Given the description of an element on the screen output the (x, y) to click on. 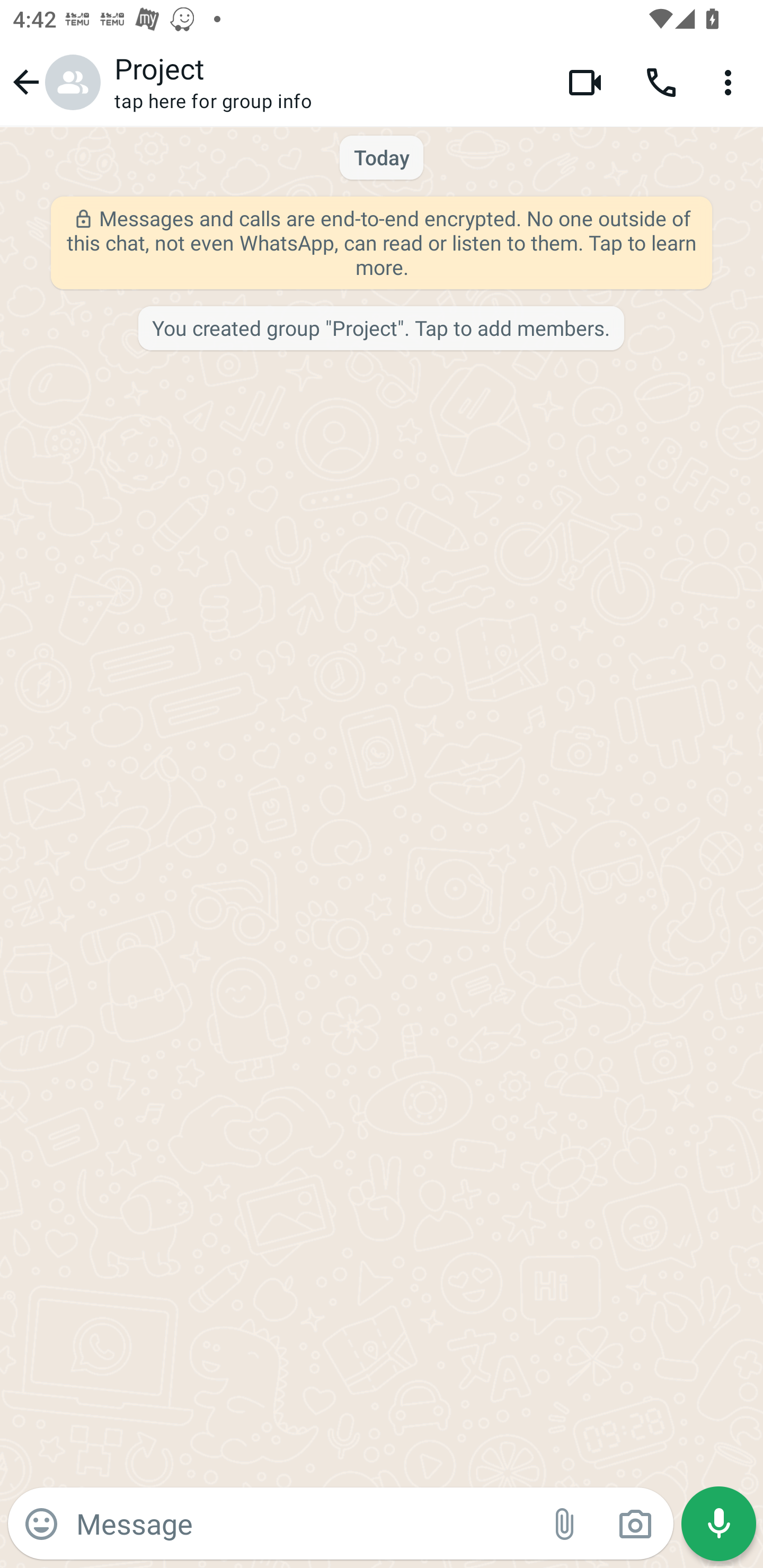
Project tap here for group info (327, 82)
Navigate up (54, 82)
Video call (585, 81)
Voice call (661, 81)
More options (731, 81)
You created group "Project". Tap to add members. (381, 329)
Emoji (41, 1523)
Attach (565, 1523)
Camera (634, 1523)
Message (303, 1523)
